Given the description of an element on the screen output the (x, y) to click on. 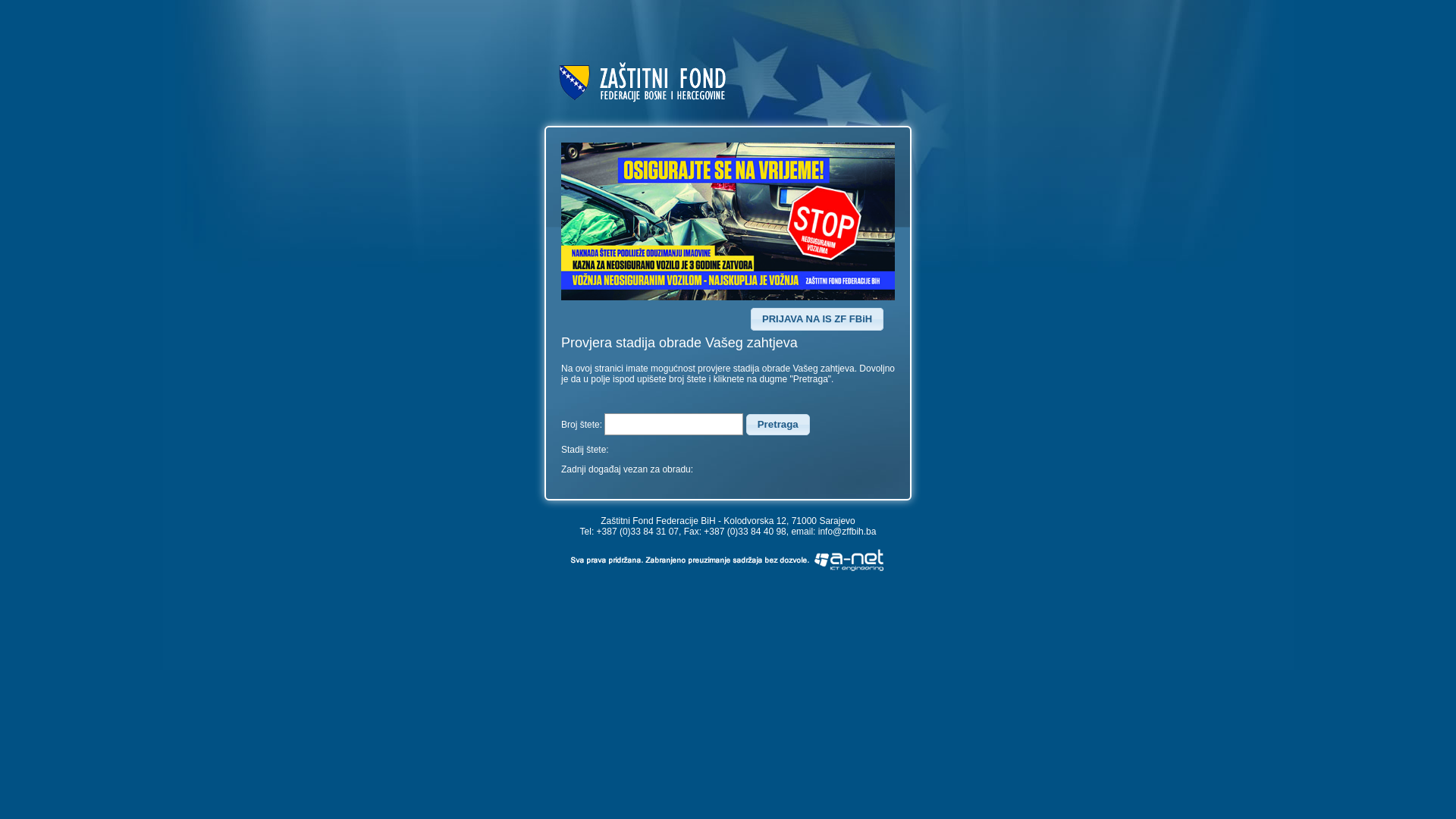
Pretraga Element type: text (777, 424)
PRIJAVA NA IS ZF FBiH Element type: text (816, 318)
